Given the description of an element on the screen output the (x, y) to click on. 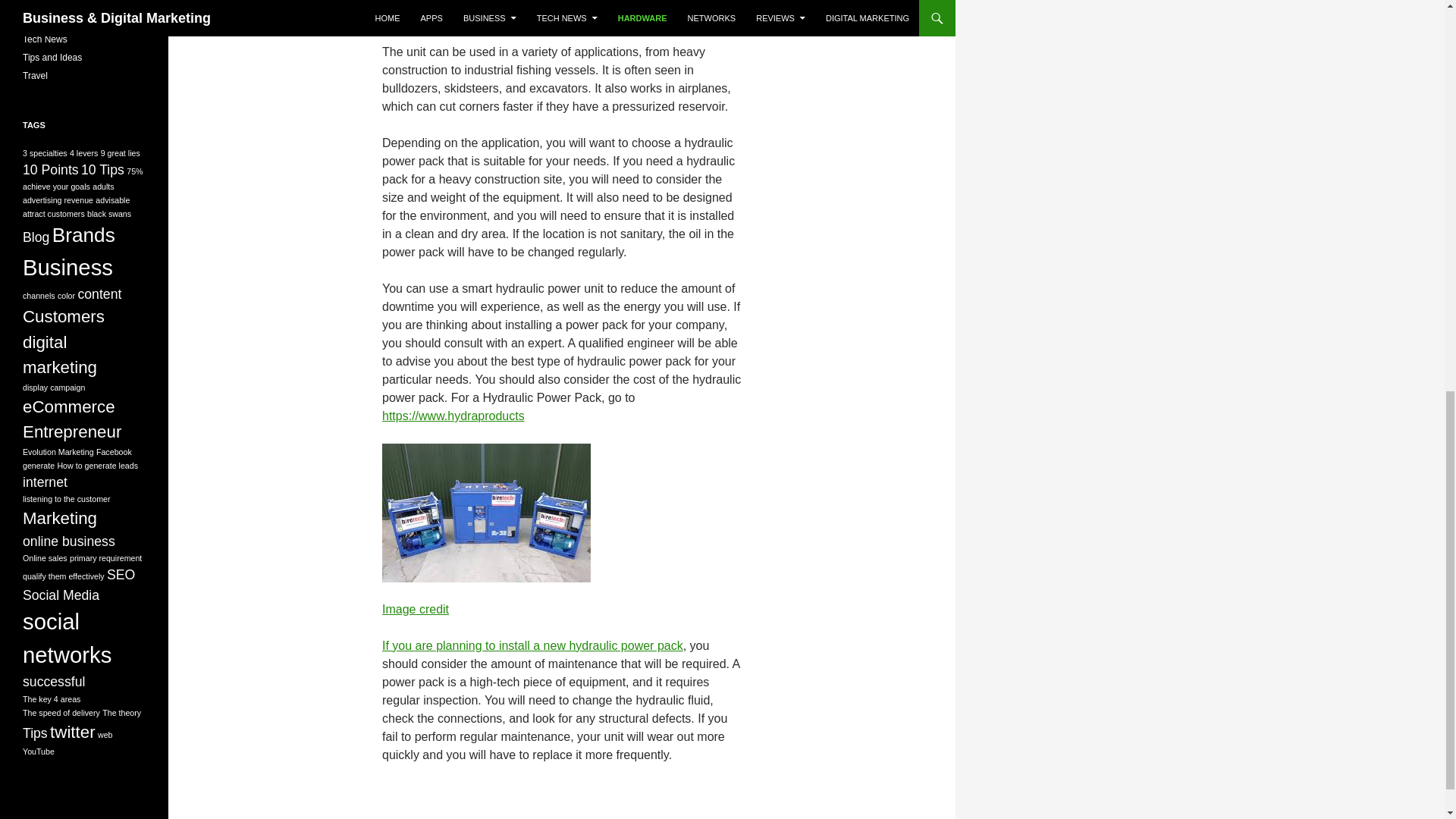
Image credit (414, 608)
If you are planning to install a new hydraulic power pack (531, 645)
